Given the description of an element on the screen output the (x, y) to click on. 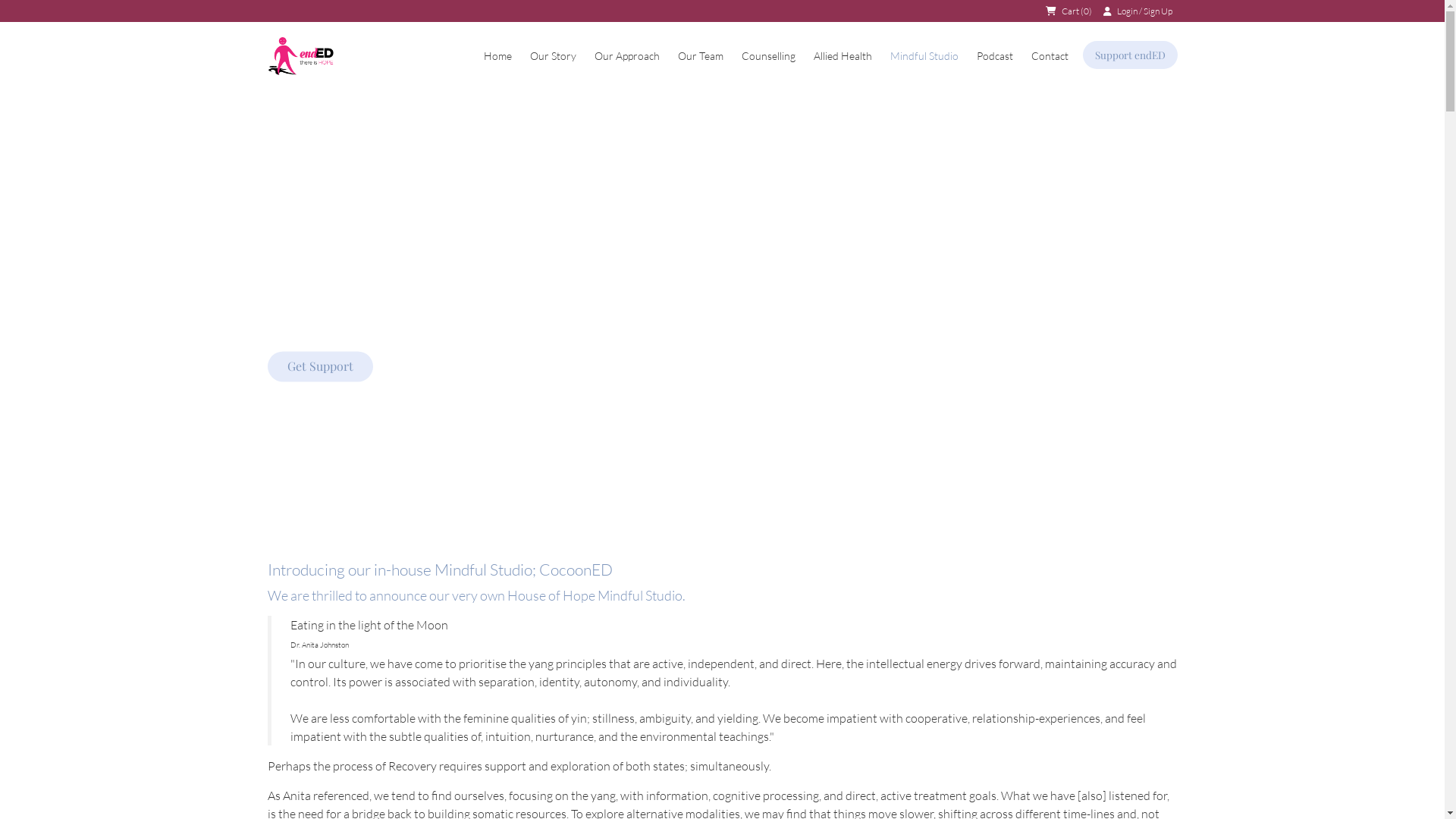
Mindful Studio Element type: text (924, 55)
Our Approach Element type: text (626, 55)
Our Story Element type: text (552, 55)
Contact Element type: text (1049, 55)
Allied Health Element type: text (841, 55)
endED Element type: hover (299, 56)
1 Element type: text (712, 461)
Podcast Element type: text (994, 55)
2 Element type: text (731, 461)
Login / Sign Up Element type: text (1144, 10)
Home Element type: text (497, 55)
Support endED Element type: text (1129, 54)
Our Team Element type: text (700, 55)
Cart (0) Element type: text (1075, 10)
Counselling Element type: text (768, 55)
Get Support Element type: text (319, 366)
